Given the description of an element on the screen output the (x, y) to click on. 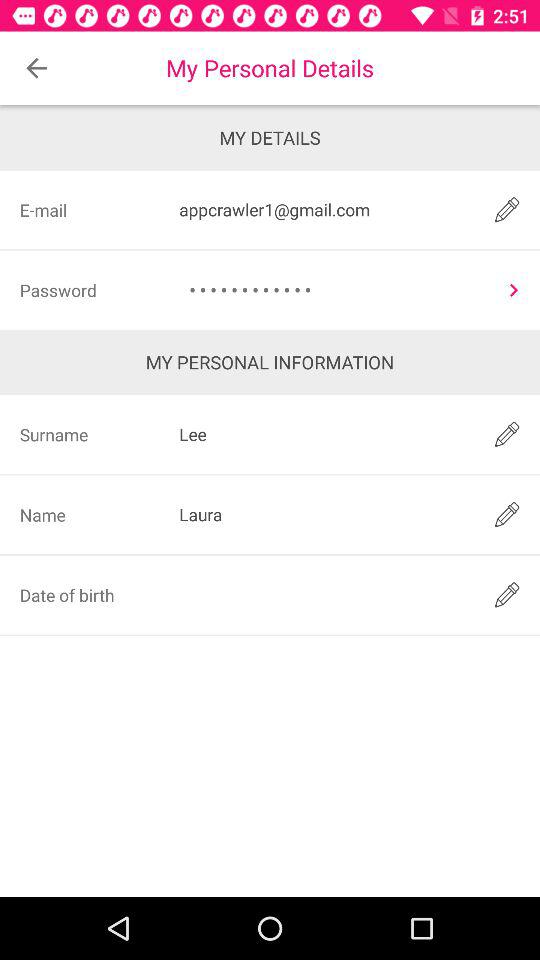
choose the item next to the e-mail item (323, 209)
